Given the description of an element on the screen output the (x, y) to click on. 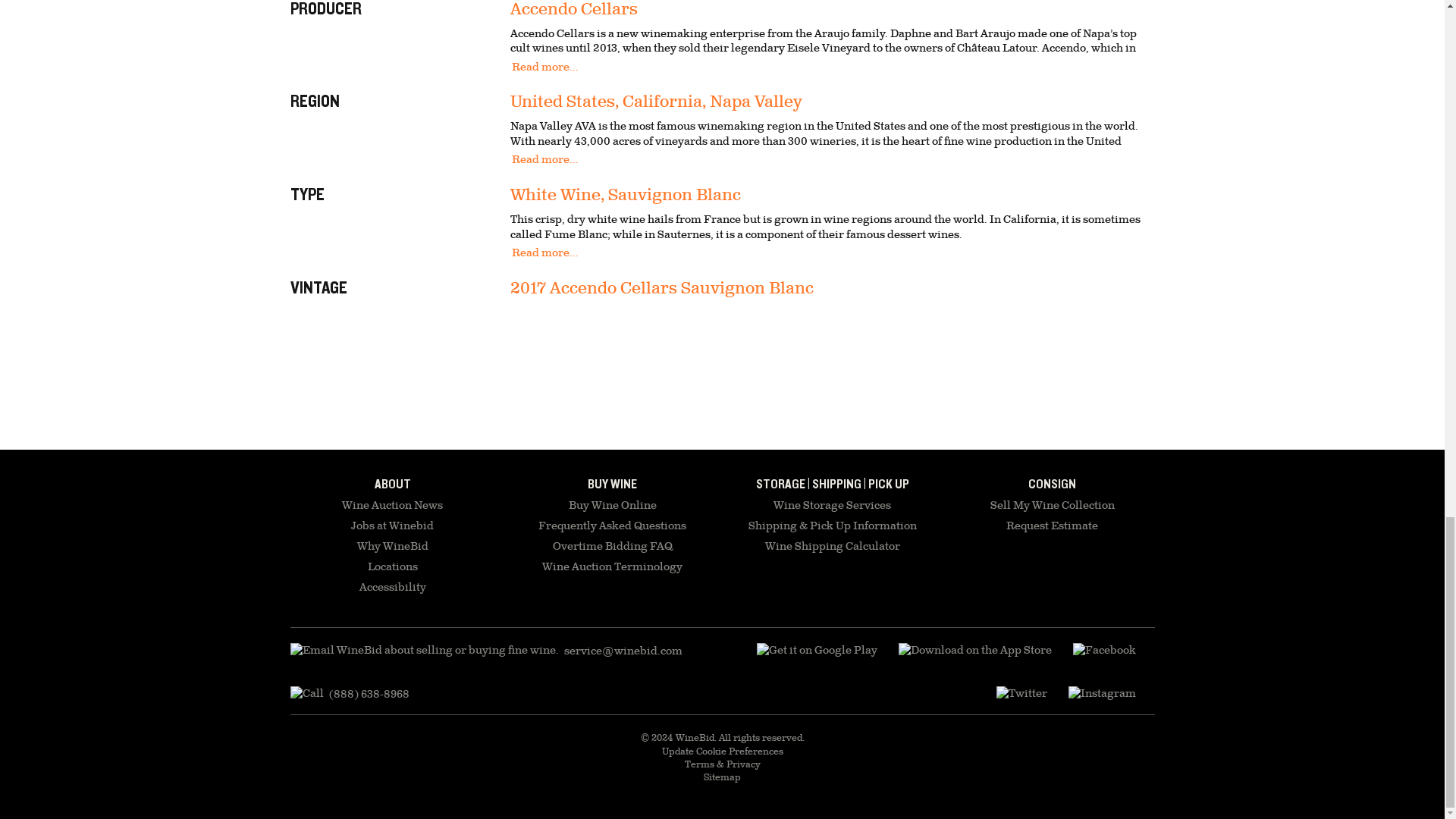
Email (485, 650)
Download on the App Store (817, 650)
Call WineBid about selling or buying fine wine. (349, 694)
Twitter (1020, 694)
Download on the App Store (974, 650)
Instagram (1101, 694)
Facebook (1103, 650)
